Given the description of an element on the screen output the (x, y) to click on. 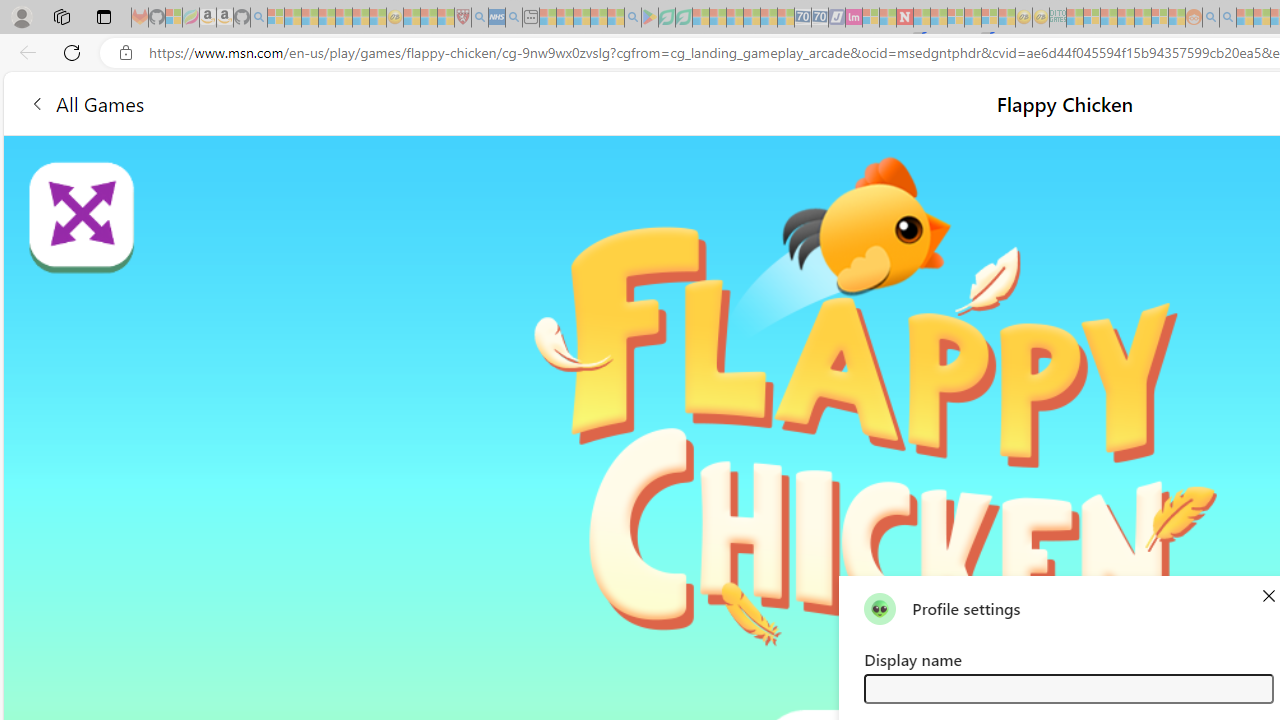
Pets - MSN - Sleeping (598, 17)
Cheap Car Rentals - Save70.com - Sleeping (802, 17)
google - Search - Sleeping (632, 17)
Microsoft account | Privacy - Sleeping (1091, 17)
Class: text-input (1068, 688)
View site information (125, 53)
Expert Portfolios - Sleeping (1125, 17)
Jobs - lastminute.com Investor Portal - Sleeping (853, 17)
Bluey: Let's Play! - Apps on Google Play - Sleeping (649, 17)
